Given the description of an element on the screen output the (x, y) to click on. 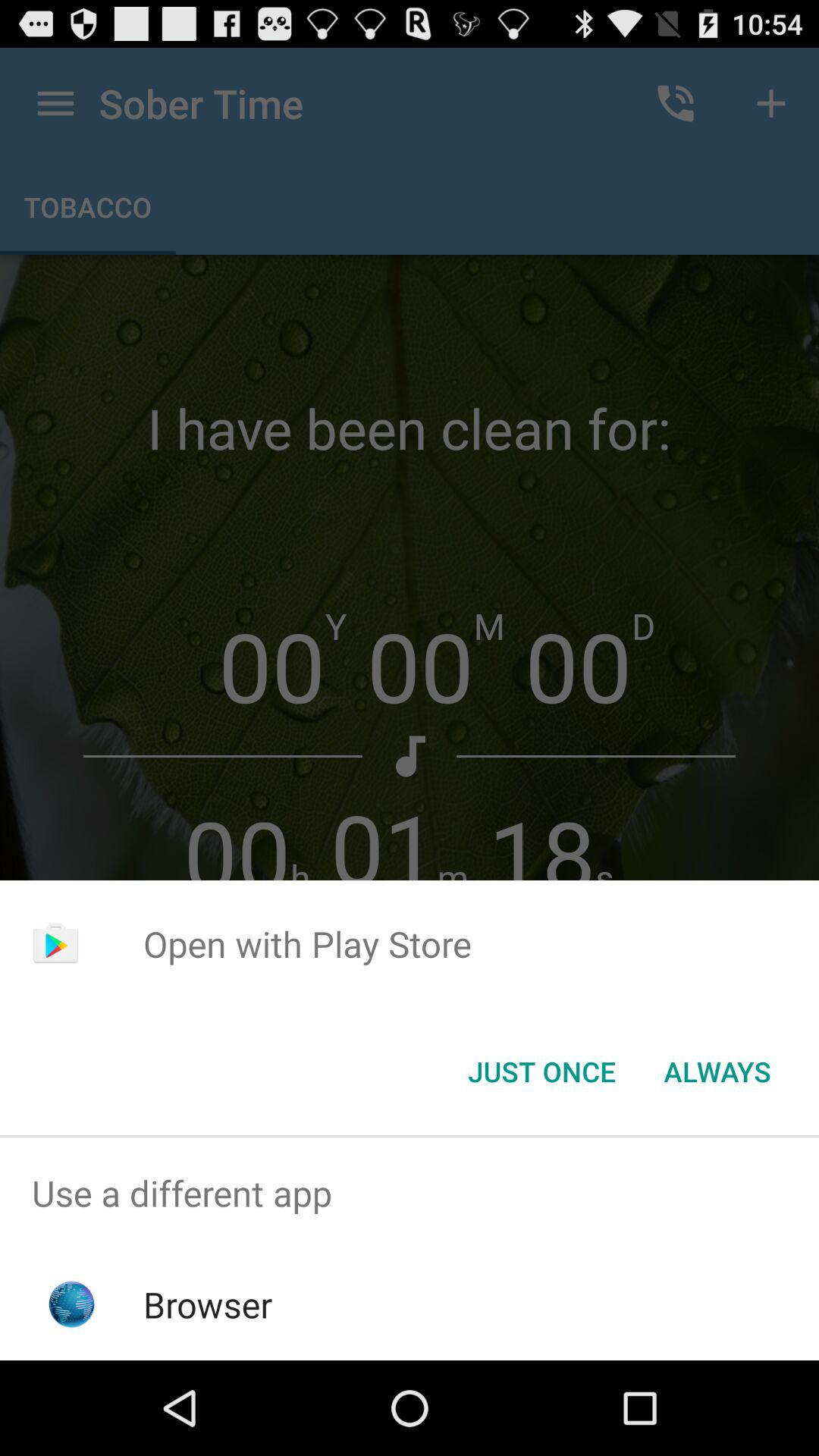
click the just once (541, 1071)
